Given the description of an element on the screen output the (x, y) to click on. 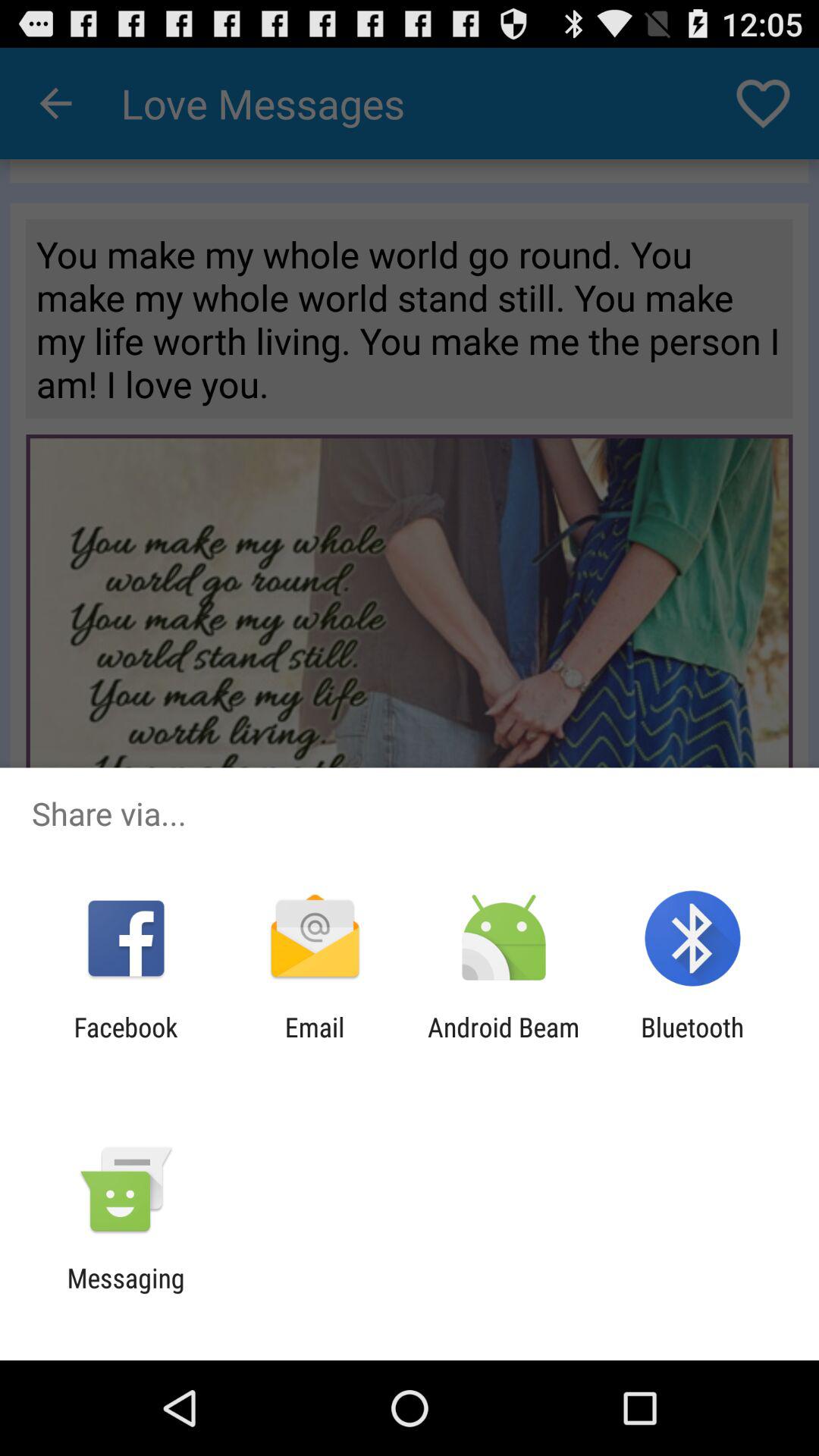
launch icon next to bluetooth icon (503, 1042)
